Given the description of an element on the screen output the (x, y) to click on. 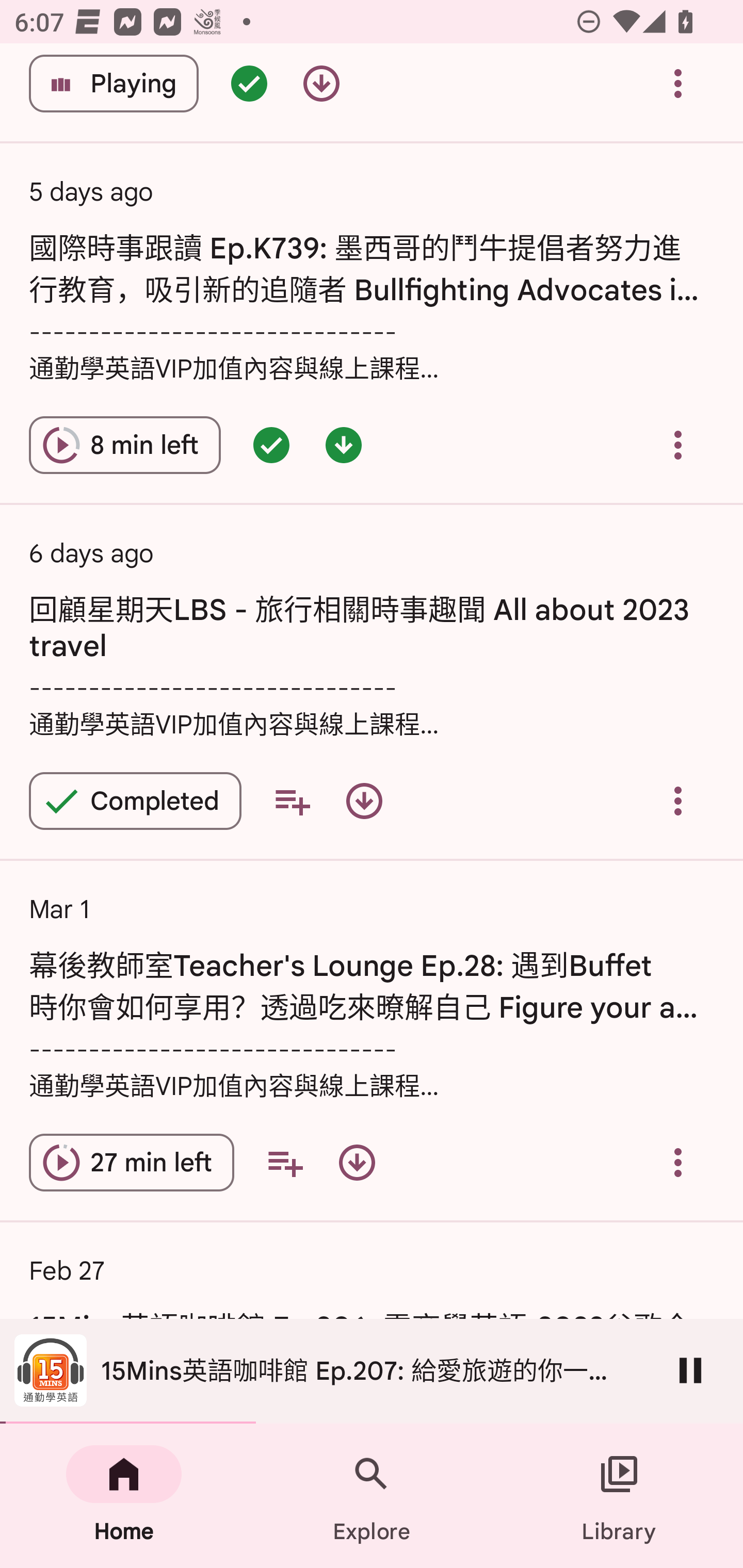
Episode queued - double tap for options (249, 85)
Download episode (321, 85)
Overflow menu (677, 85)
Episode queued - double tap for options (271, 445)
Episode downloaded - double tap for options (343, 445)
Overflow menu (677, 445)
Add to your queue (291, 800)
Download episode (364, 800)
Overflow menu (677, 800)
Add to your queue (284, 1162)
Download episode (356, 1162)
Overflow menu (677, 1162)
Pause (690, 1370)
Explore (371, 1495)
Library (619, 1495)
